Given the description of an element on the screen output the (x, y) to click on. 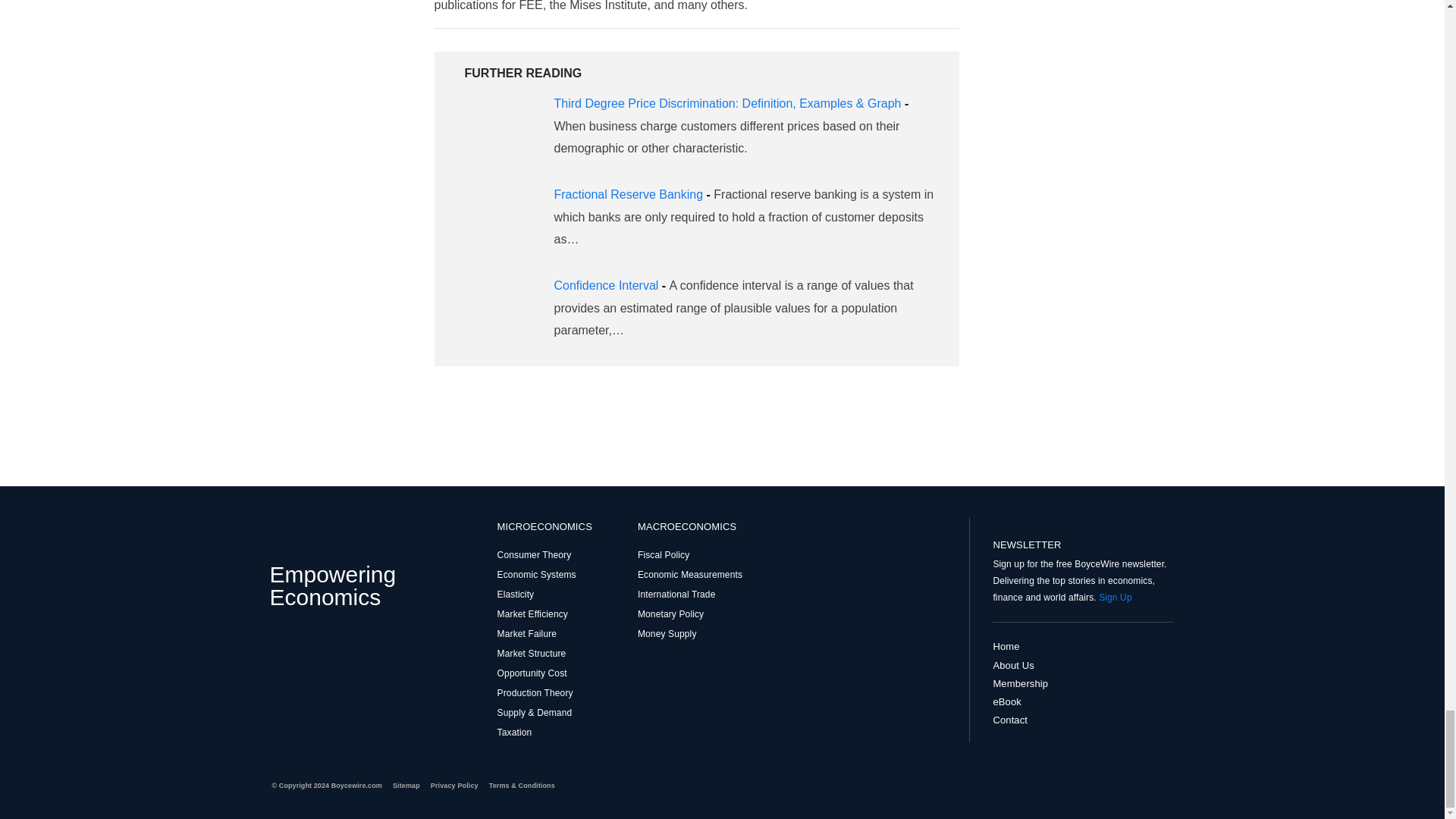
boycewire (286, 536)
linkedin (352, 645)
instagram (304, 645)
newsletter (1082, 527)
twitter (328, 645)
facebook (279, 645)
